Given the description of an element on the screen output the (x, y) to click on. 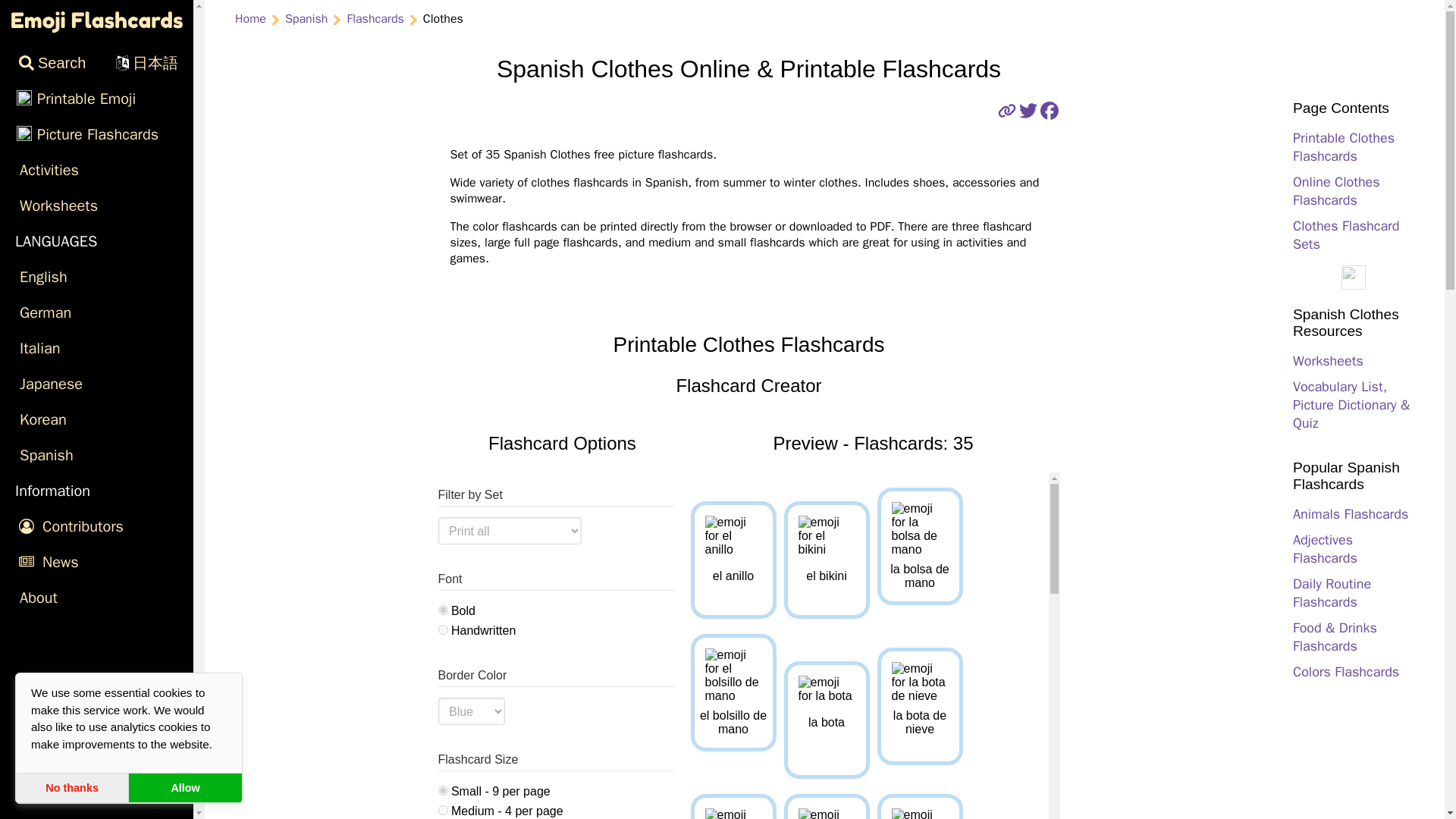
Copy link (1006, 114)
Activities (96, 170)
Japanese (96, 384)
Spanish (96, 455)
Share on Twitter (1028, 114)
Italian (96, 348)
handwritten (443, 629)
Picture Flashcards (96, 134)
German (96, 312)
English (96, 276)
Contributors (96, 526)
Printable Emoji (96, 99)
Korean (96, 419)
Printable Clothes Flashcards (1343, 146)
Share on Facebook (1049, 114)
